Given the description of an element on the screen output the (x, y) to click on. 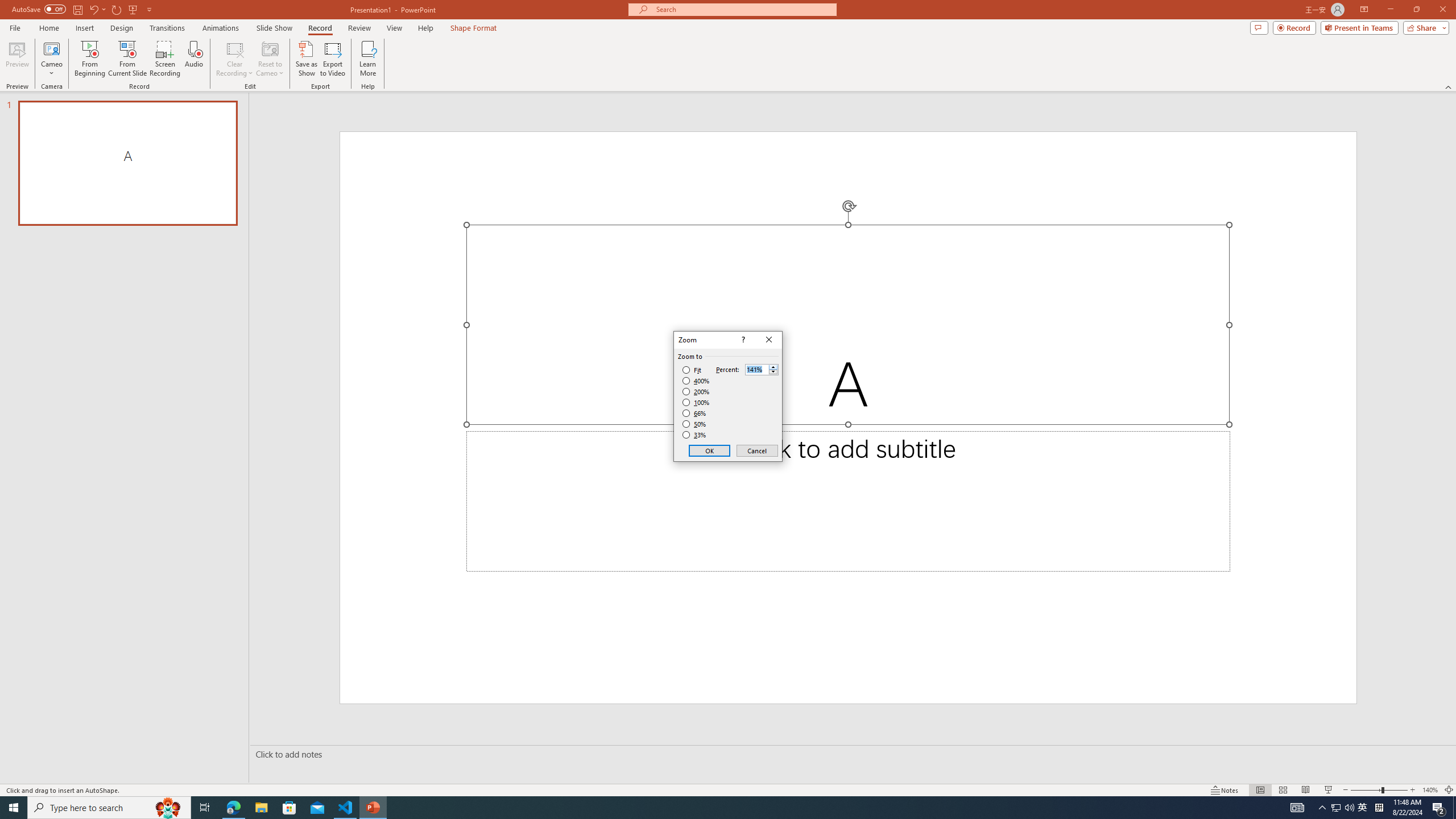
Less (772, 372)
200% (696, 391)
More (772, 366)
